Given the description of an element on the screen output the (x, y) to click on. 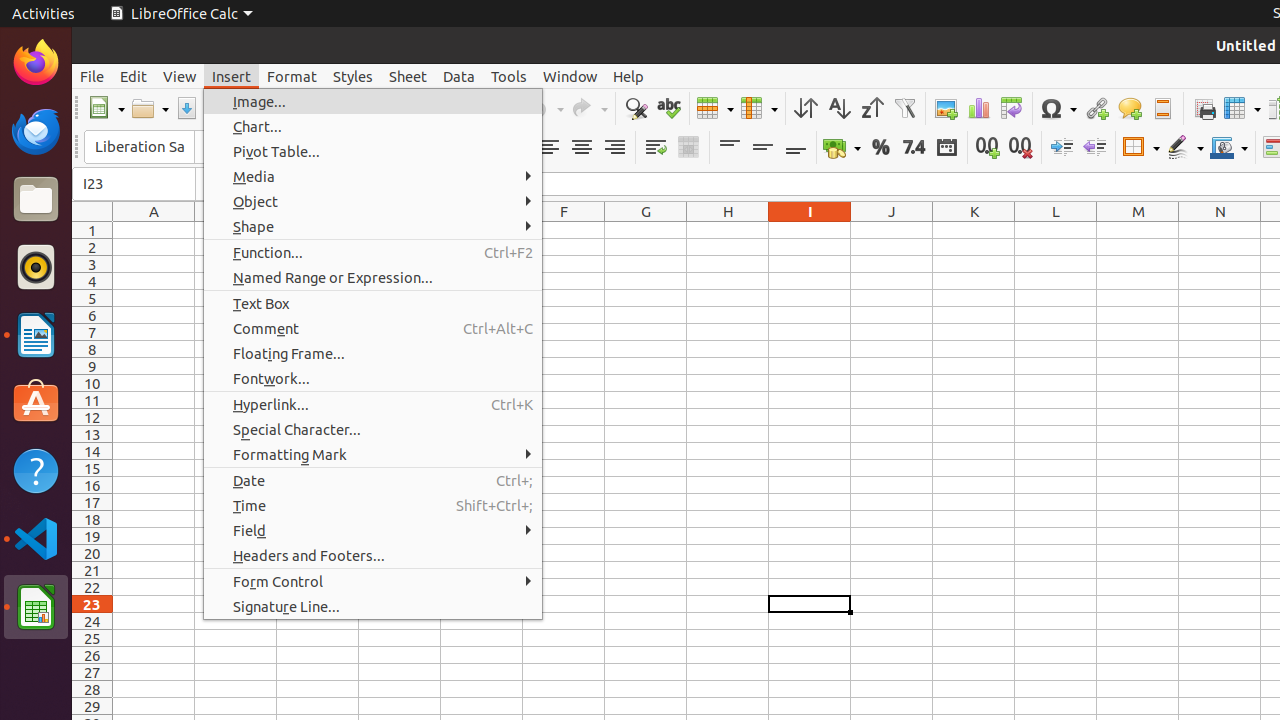
Sheet Element type: menu (408, 76)
Decrease Element type: push-button (1094, 147)
Row Element type: push-button (715, 108)
Delete Decimal Place Element type: push-button (1020, 147)
